Given the description of an element on the screen output the (x, y) to click on. 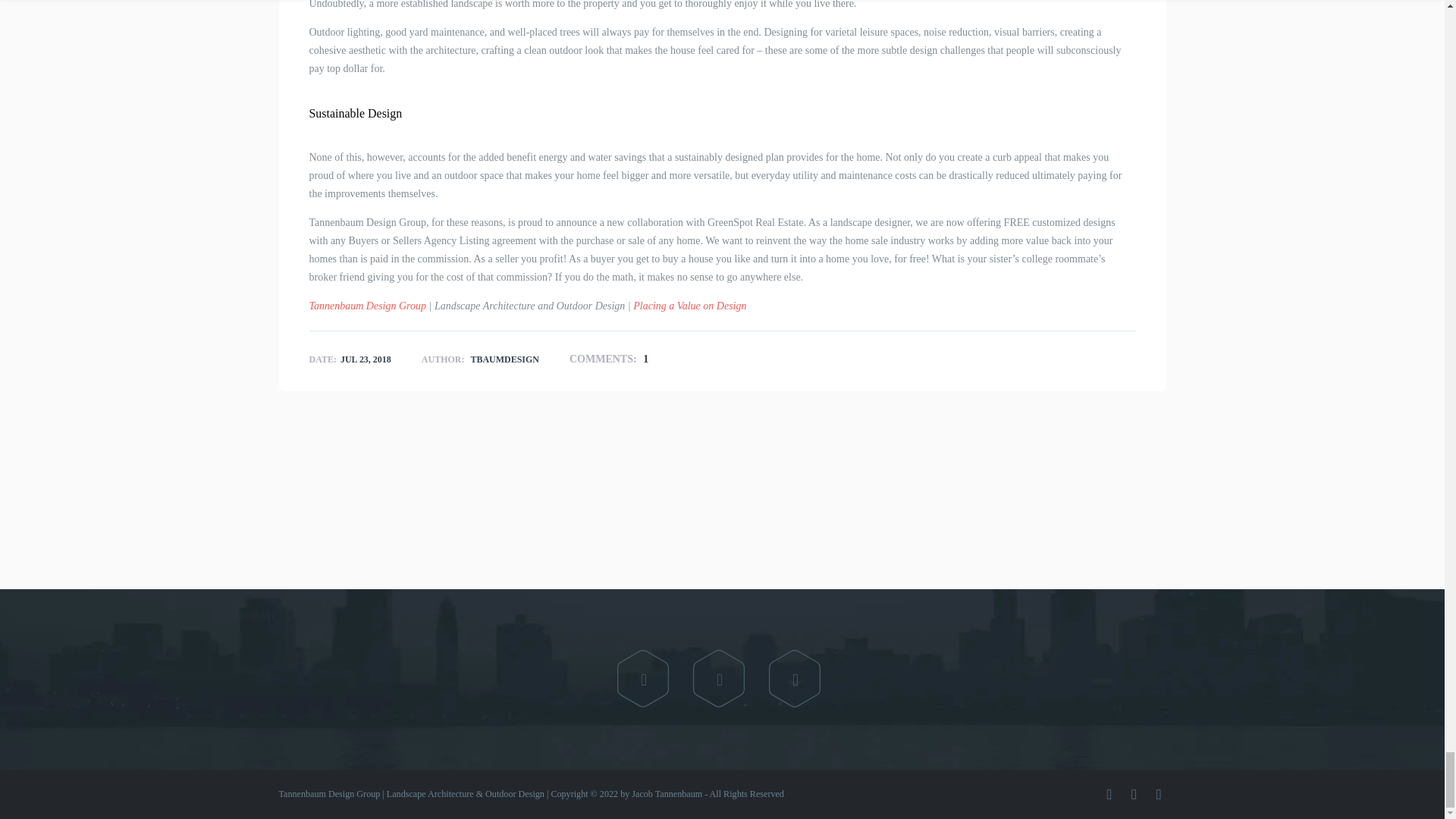
Instagram (719, 679)
LinkedIn (795, 679)
Facebook (643, 679)
